Given the description of an element on the screen output the (x, y) to click on. 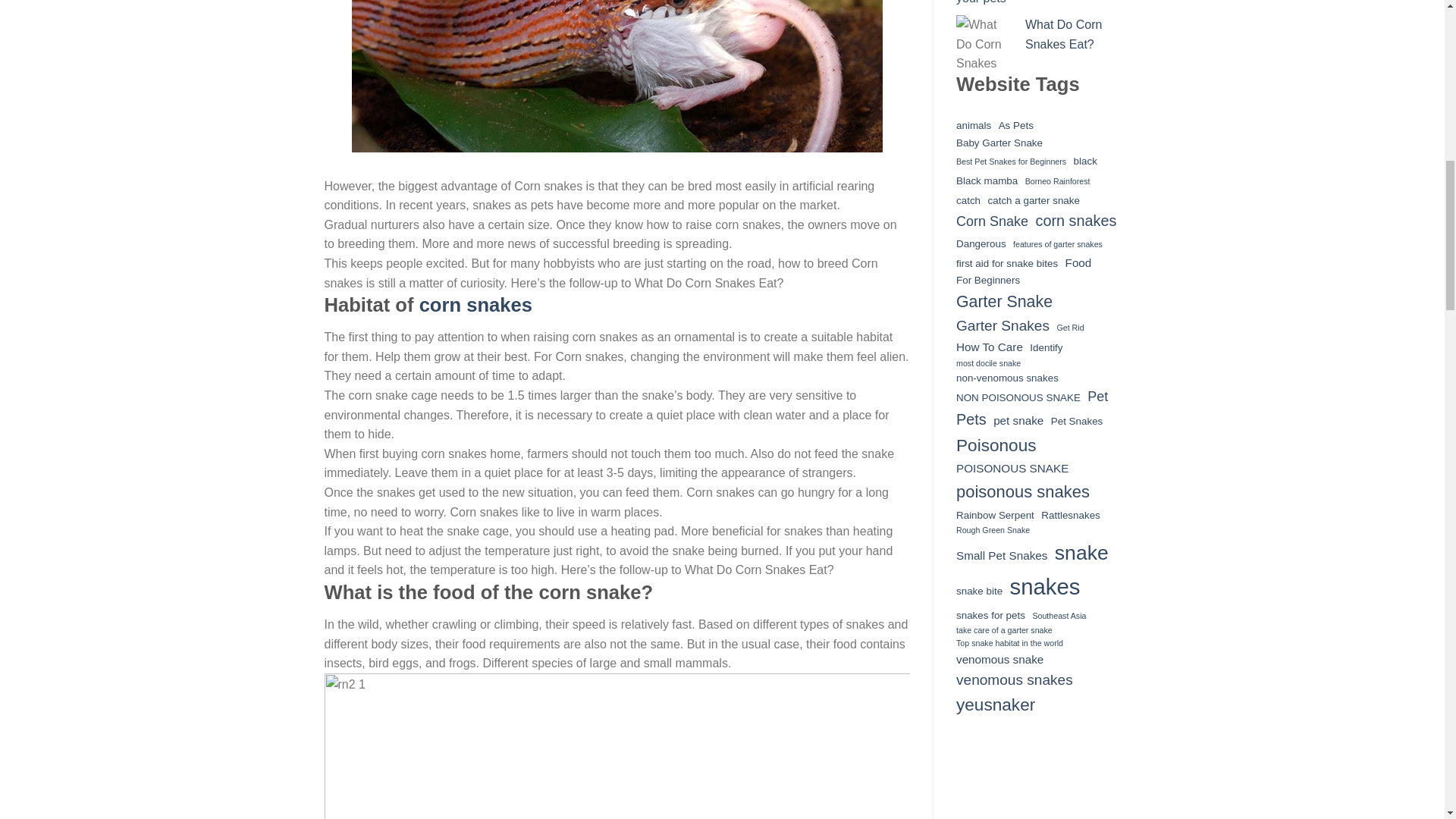
What Do Corn Snakes Eat? 3 (617, 746)
What Do Corn Snakes Eat? 2 (617, 88)
corn snakes (475, 304)
